Given the description of an element on the screen output the (x, y) to click on. 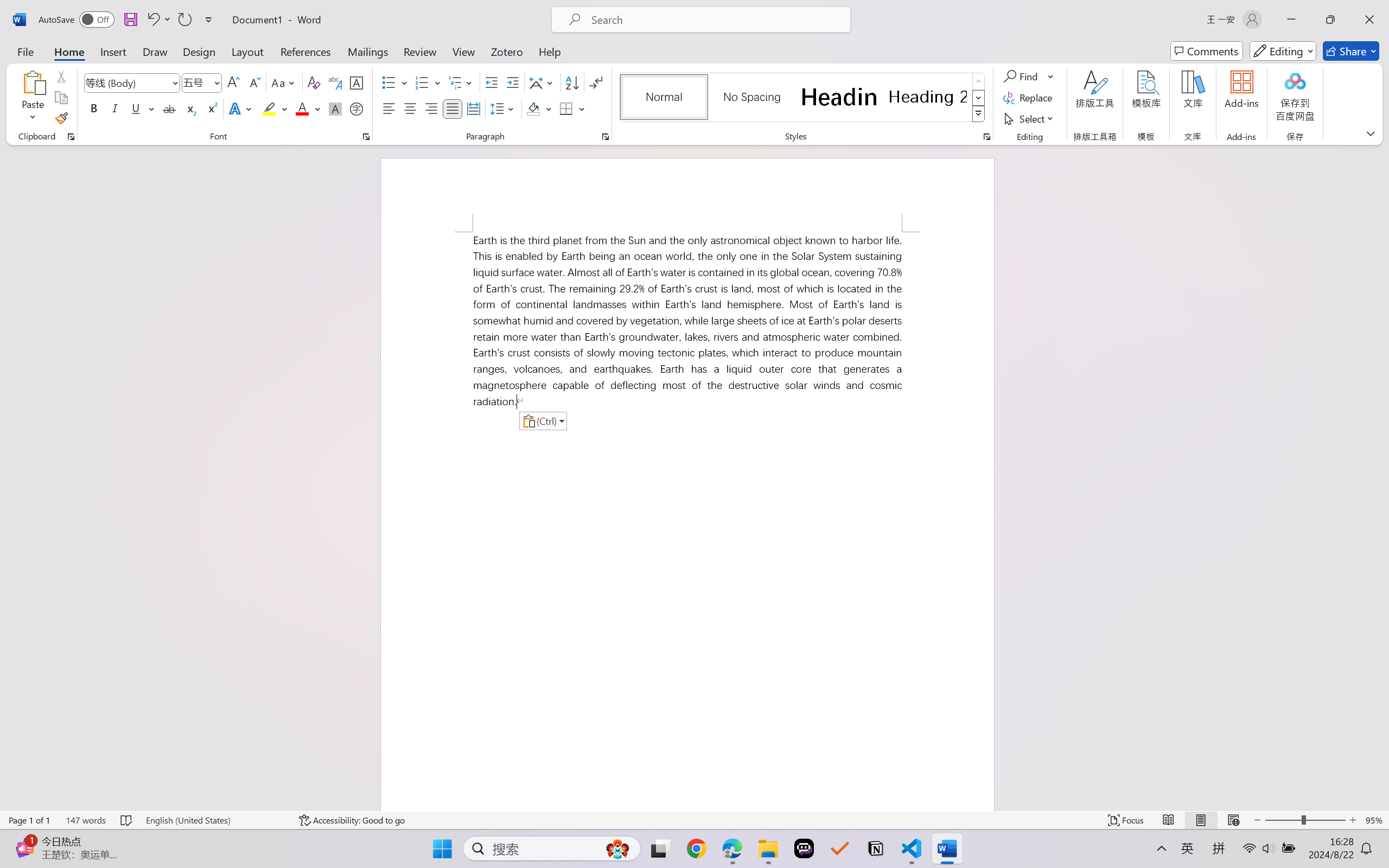
Distributed (473, 108)
Italic (115, 108)
Shrink Font (253, 82)
